Given the description of an element on the screen output the (x, y) to click on. 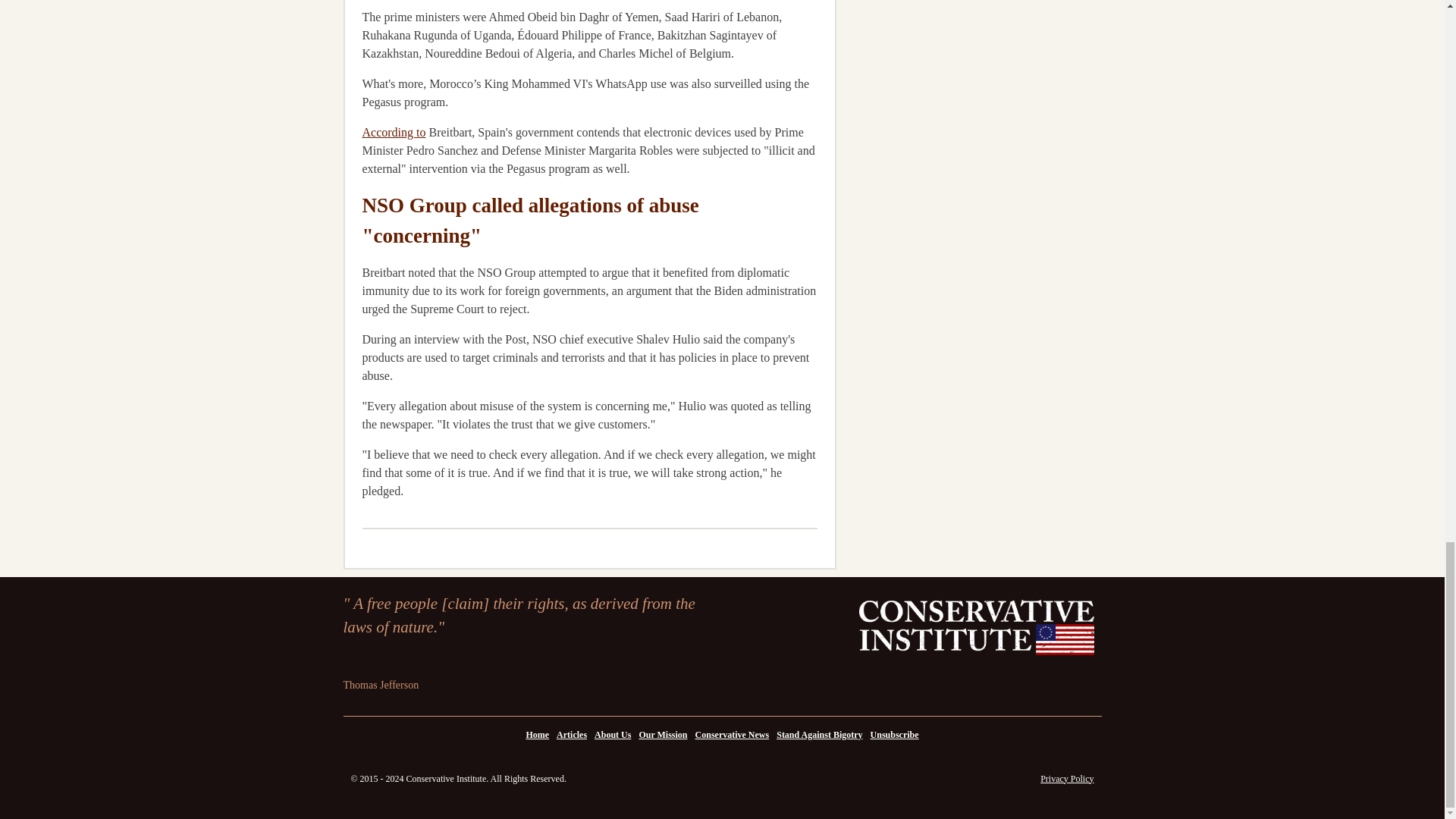
Stand Against Bigotry (819, 734)
Our Mission (662, 734)
About Us (612, 734)
Home (537, 734)
Conservative News (732, 734)
Unsubscribe (894, 734)
Articles (572, 734)
According to (394, 131)
Privacy Policy (1066, 777)
